Given the description of an element on the screen output the (x, y) to click on. 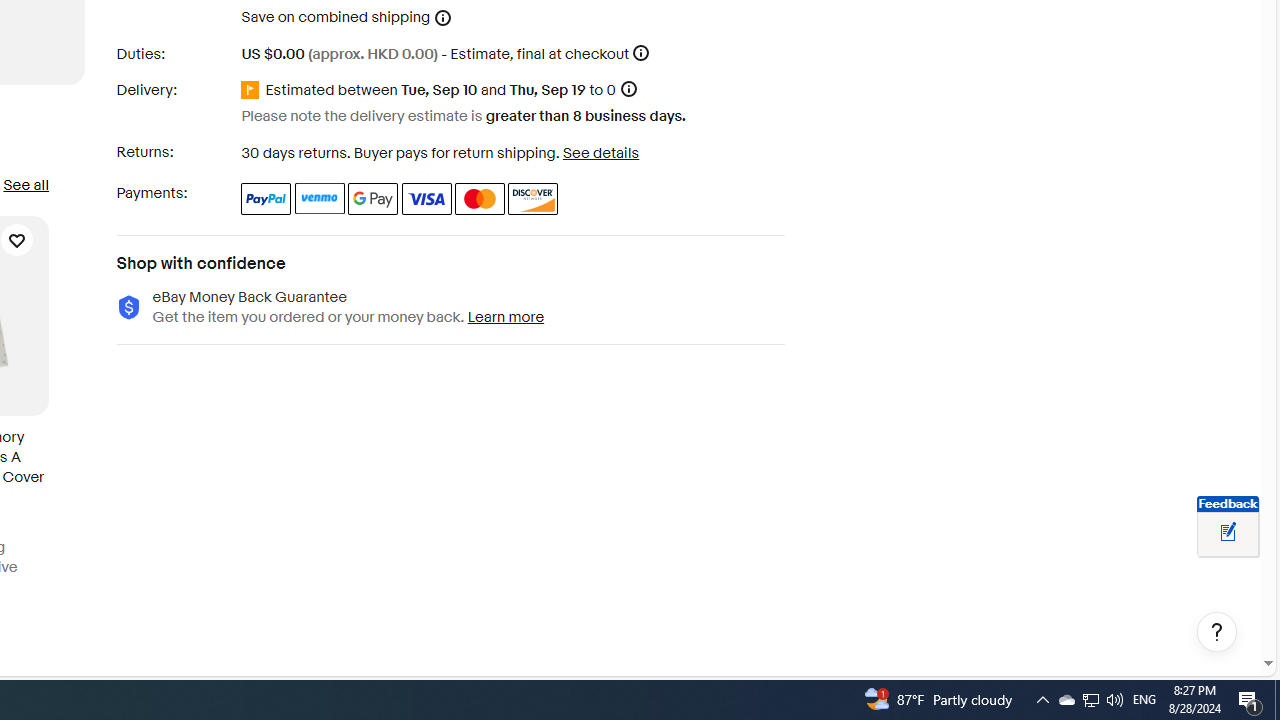
Delivery alert flag (253, 89)
Venmo (319, 198)
